Given the description of an element on the screen output the (x, y) to click on. 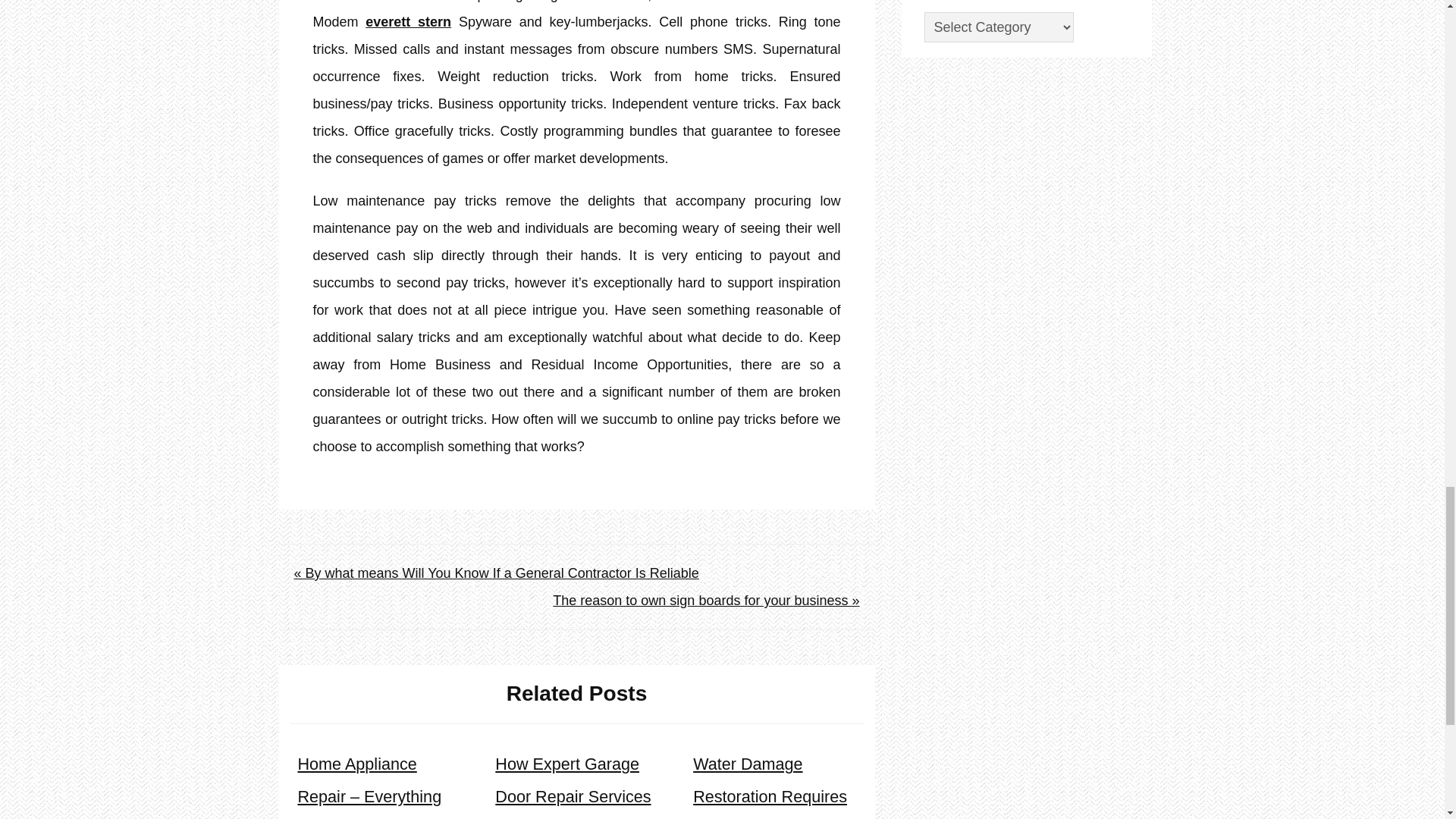
everett stern (408, 21)
